Given the description of an element on the screen output the (x, y) to click on. 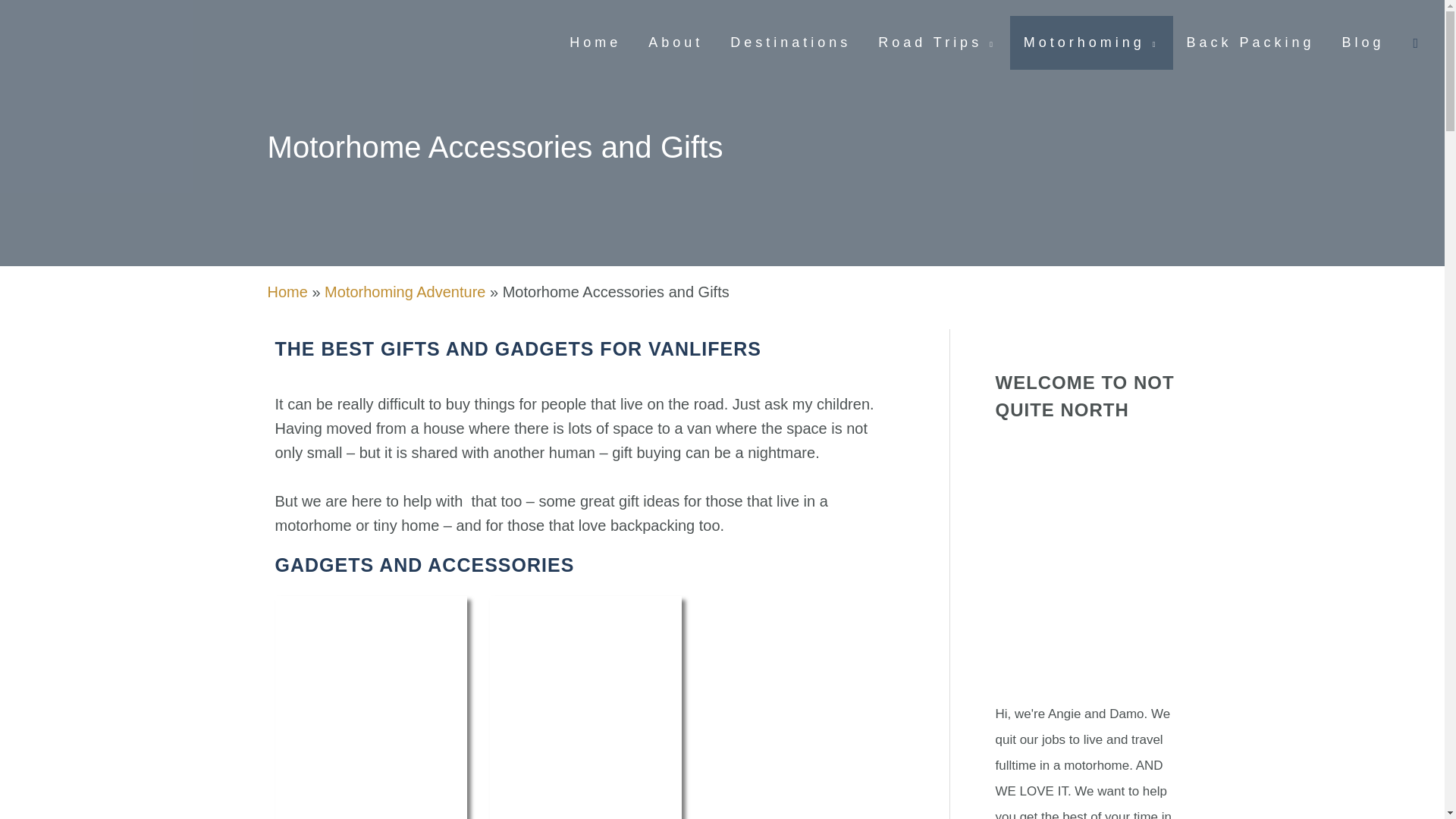
Motorhoming (1091, 42)
Destinations (790, 42)
Road Trips (937, 42)
About (675, 42)
Back Packing (1250, 42)
Blog (1362, 42)
Home (595, 42)
